Given the description of an element on the screen output the (x, y) to click on. 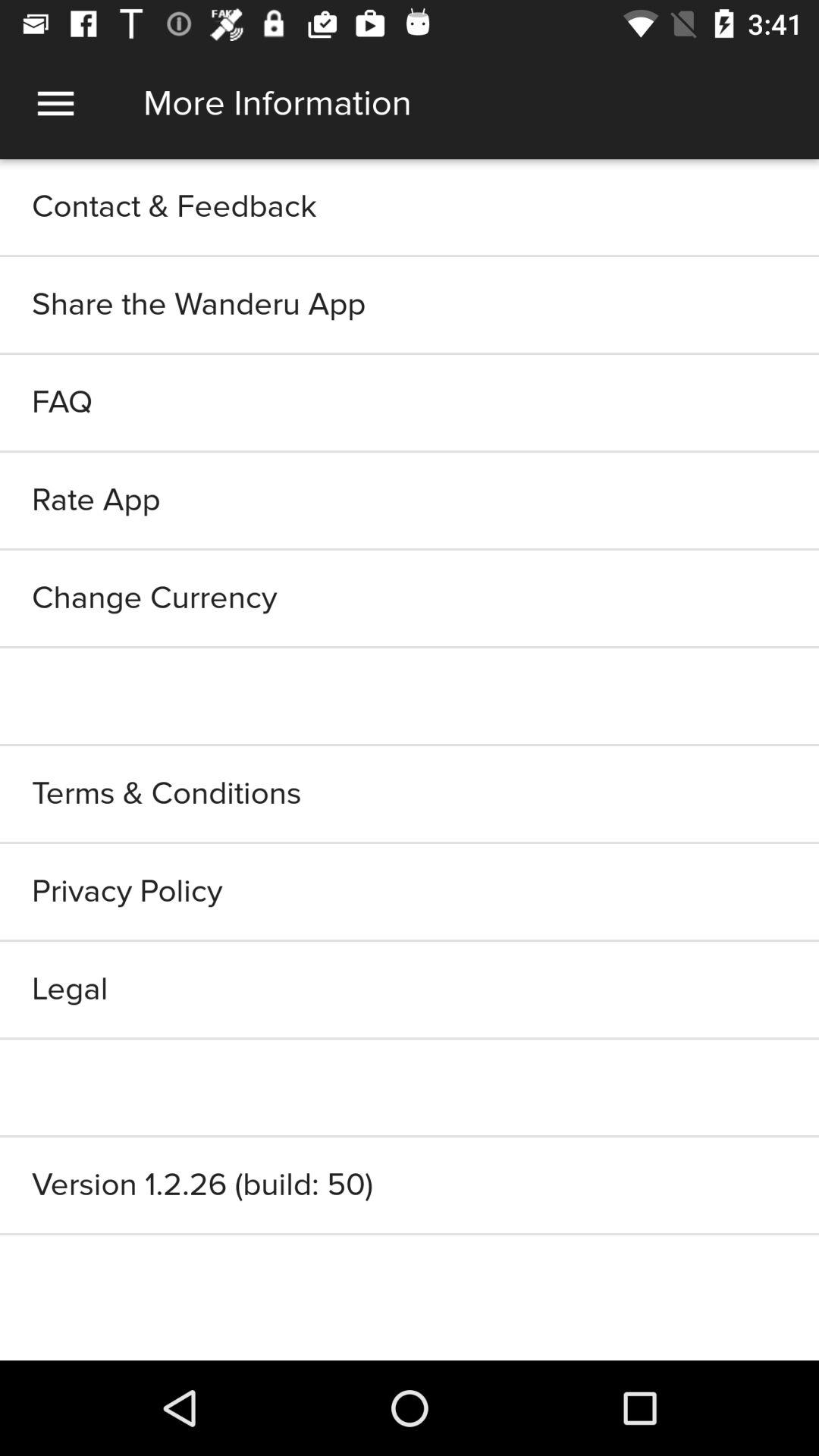
flip until the share the wanderu icon (409, 304)
